Given the description of an element on the screen output the (x, y) to click on. 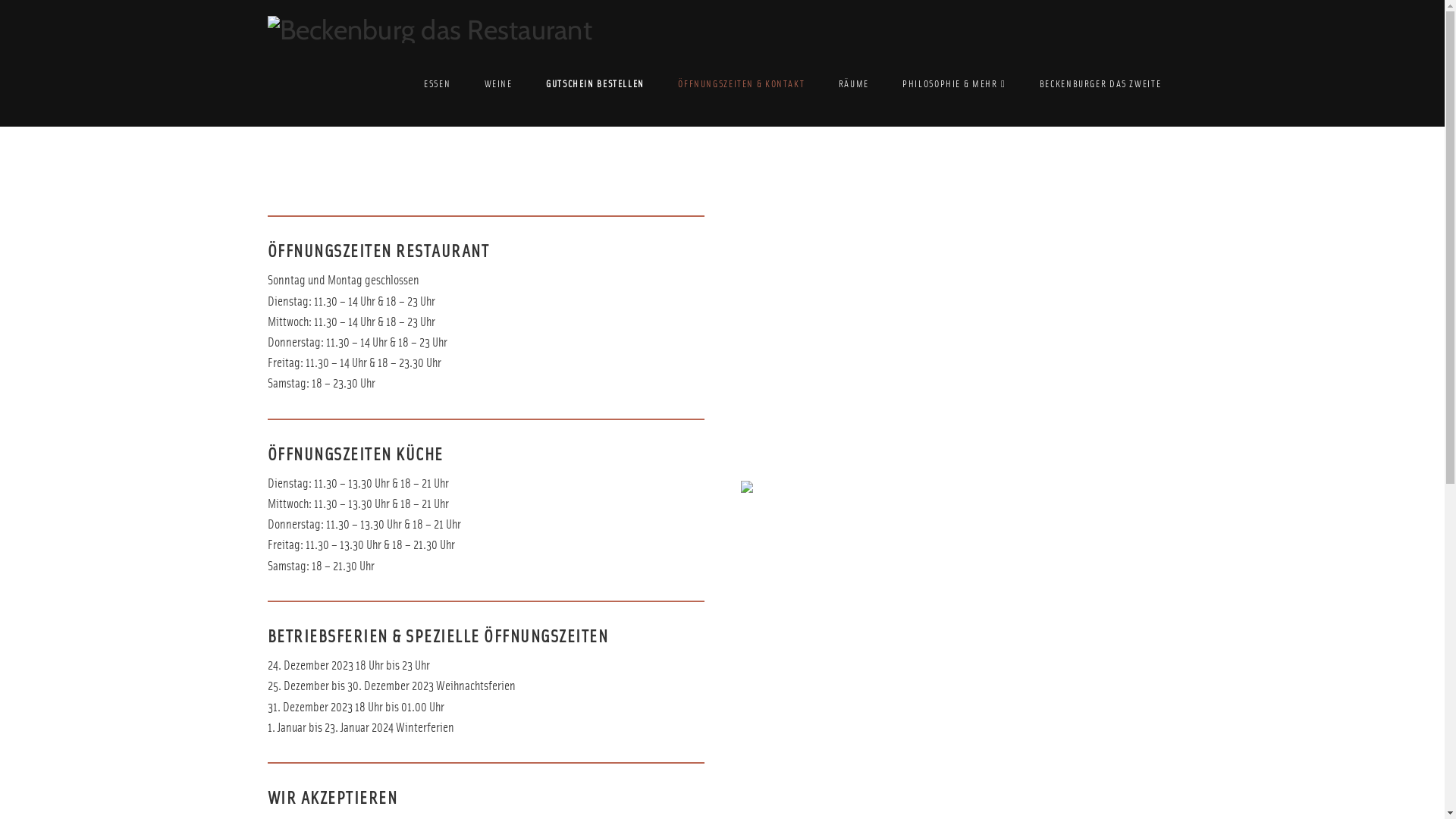
ESSEN Element type: text (436, 84)
PHILOSOPHIE & MEHR Element type: text (953, 84)
BECKENBURGER DAS ZWEITE Element type: text (1099, 84)
WEINE Element type: text (498, 84)
GUTSCHEIN BESTELLEN Element type: text (594, 84)
